Given the description of an element on the screen output the (x, y) to click on. 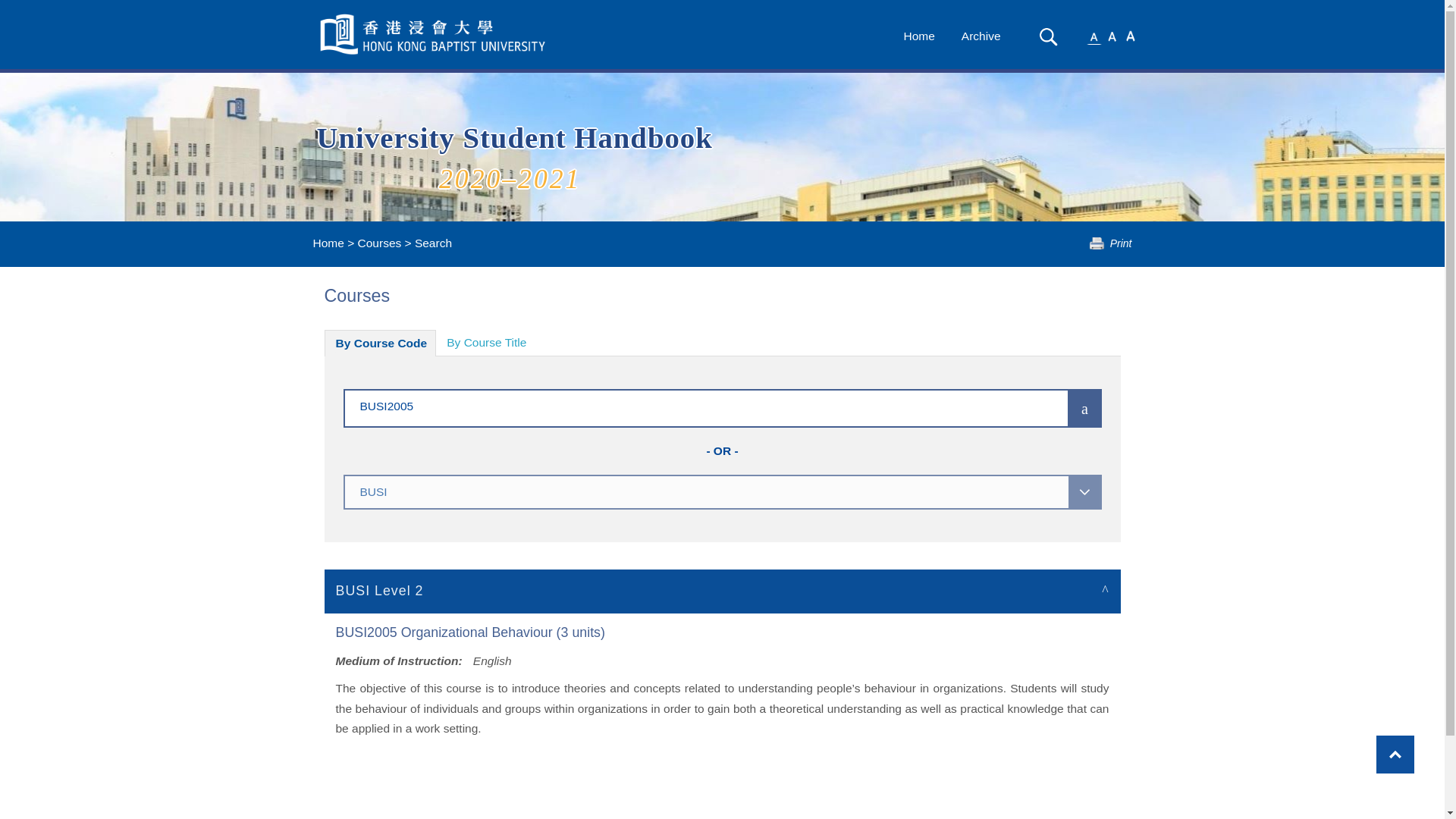
large font (1129, 35)
Medium Font (1111, 34)
Courses (379, 242)
Large Font (1129, 34)
BUSI2005 (683, 404)
BUSI Level 2 (722, 590)
Use a small font (1093, 34)
HKBU Student Handbook (434, 34)
Home (328, 242)
Use a large font (1129, 34)
Search (1048, 36)
Archive (981, 36)
Scroll To Top (1394, 754)
By Course Title (486, 342)
selected (434, 34)
